Given the description of an element on the screen output the (x, y) to click on. 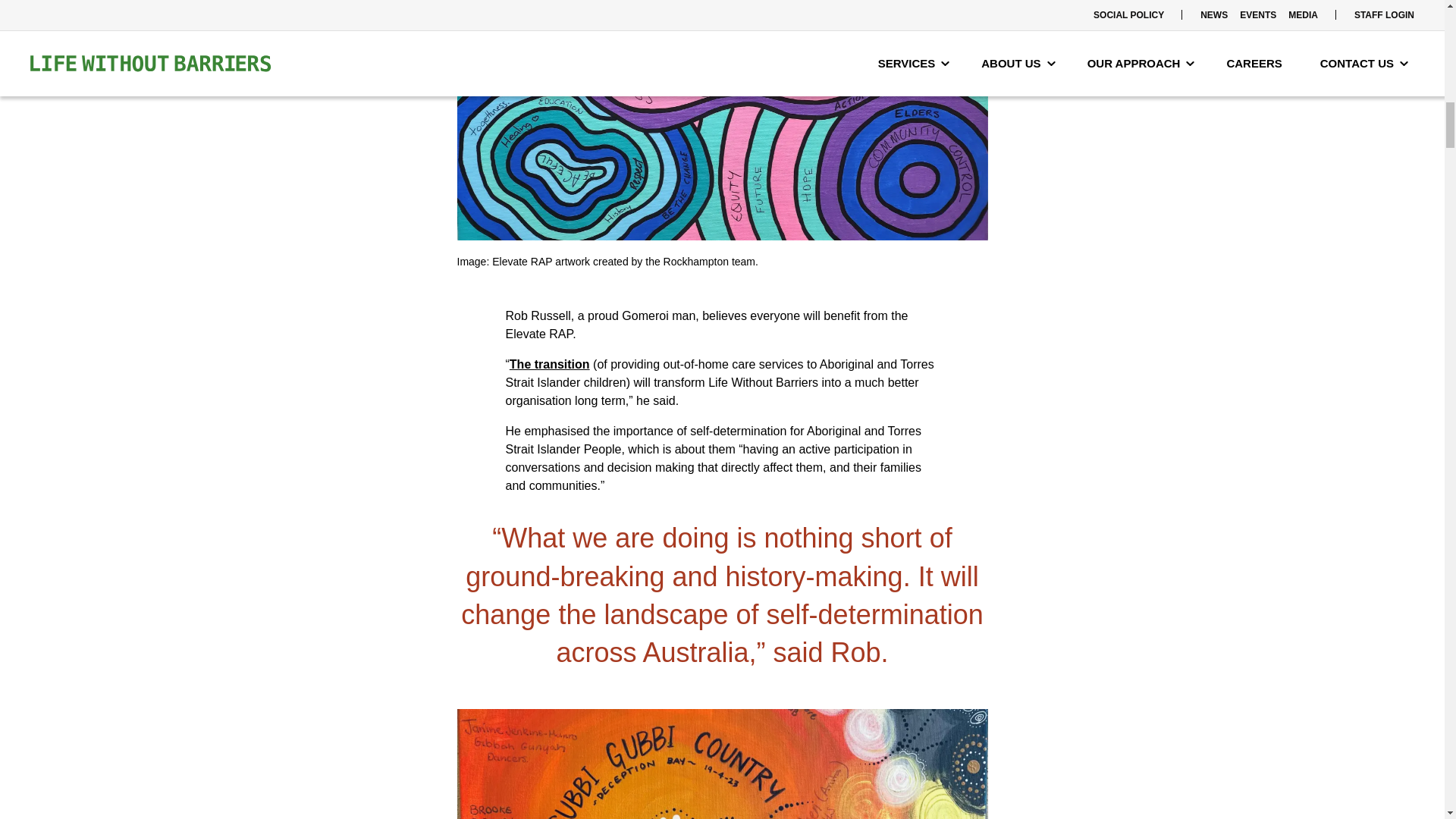
The transition (549, 364)
